Given the description of an element on the screen output the (x, y) to click on. 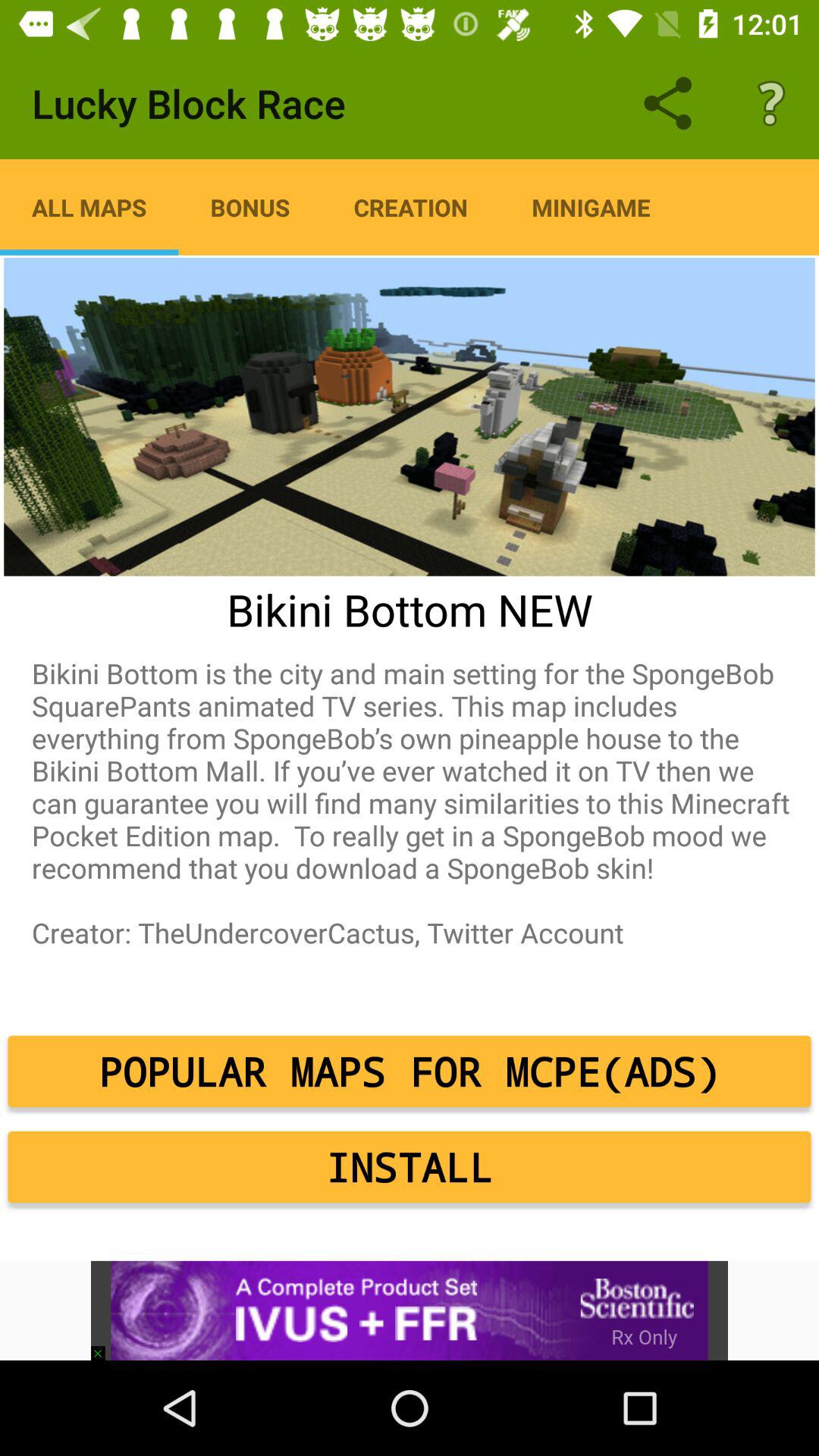
turn off item below popular maps for item (409, 1166)
